Given the description of an element on the screen output the (x, y) to click on. 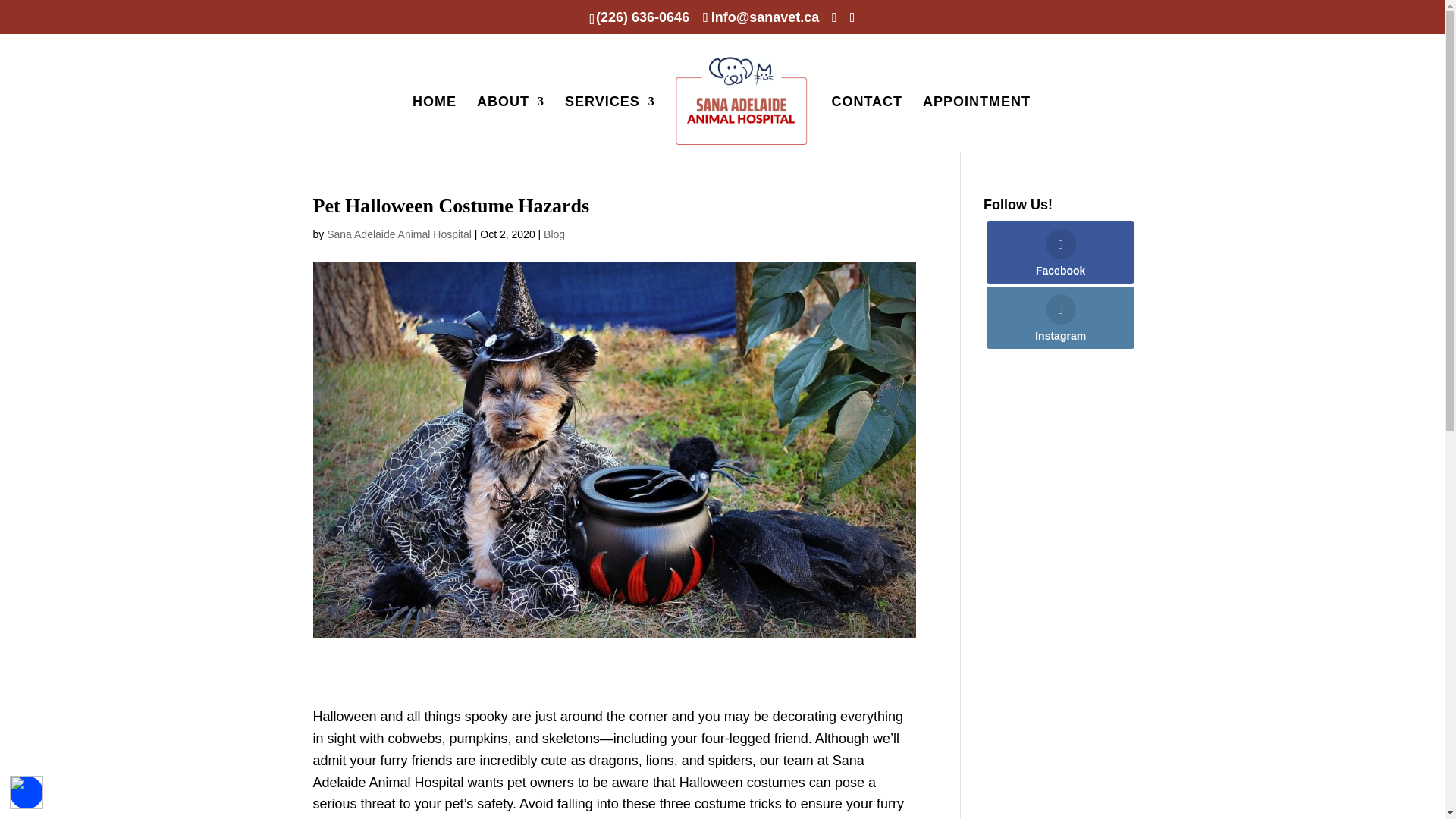
CONTACT (866, 124)
Accessibility Menu (26, 792)
APPOINTMENT (976, 124)
ABOUT (510, 124)
Posts by Sana Adelaide Animal Hospital (398, 234)
HOME (434, 124)
SERVICES (609, 124)
